Given the description of an element on the screen output the (x, y) to click on. 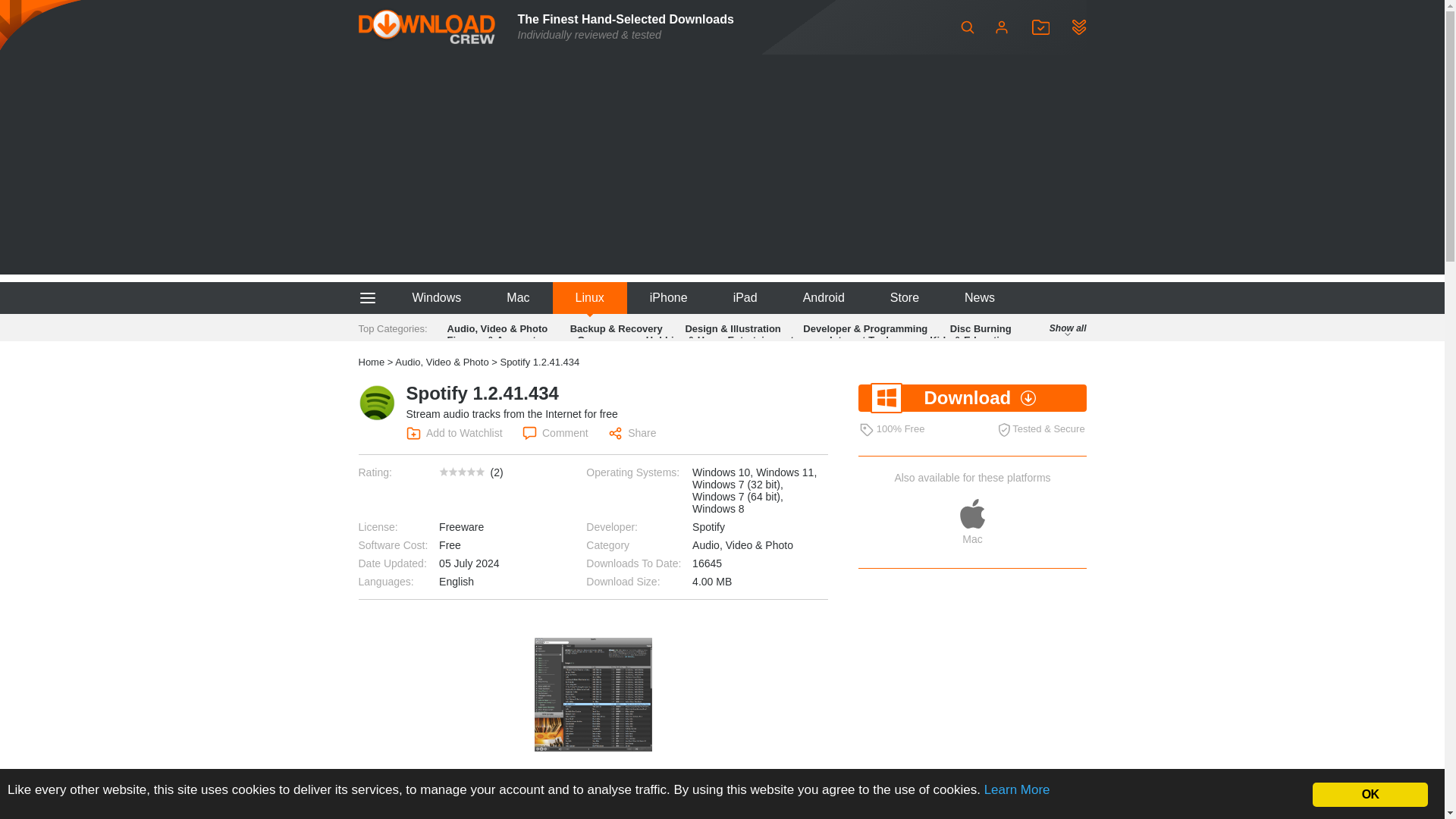
Games (593, 339)
Downloadcrew - Home (426, 26)
Linux (590, 297)
Mac (517, 297)
Disc Burning (980, 328)
Windows (435, 297)
Internet Tools (861, 339)
iPhone (668, 297)
Android (823, 297)
iPad (745, 297)
